Given the description of an element on the screen output the (x, y) to click on. 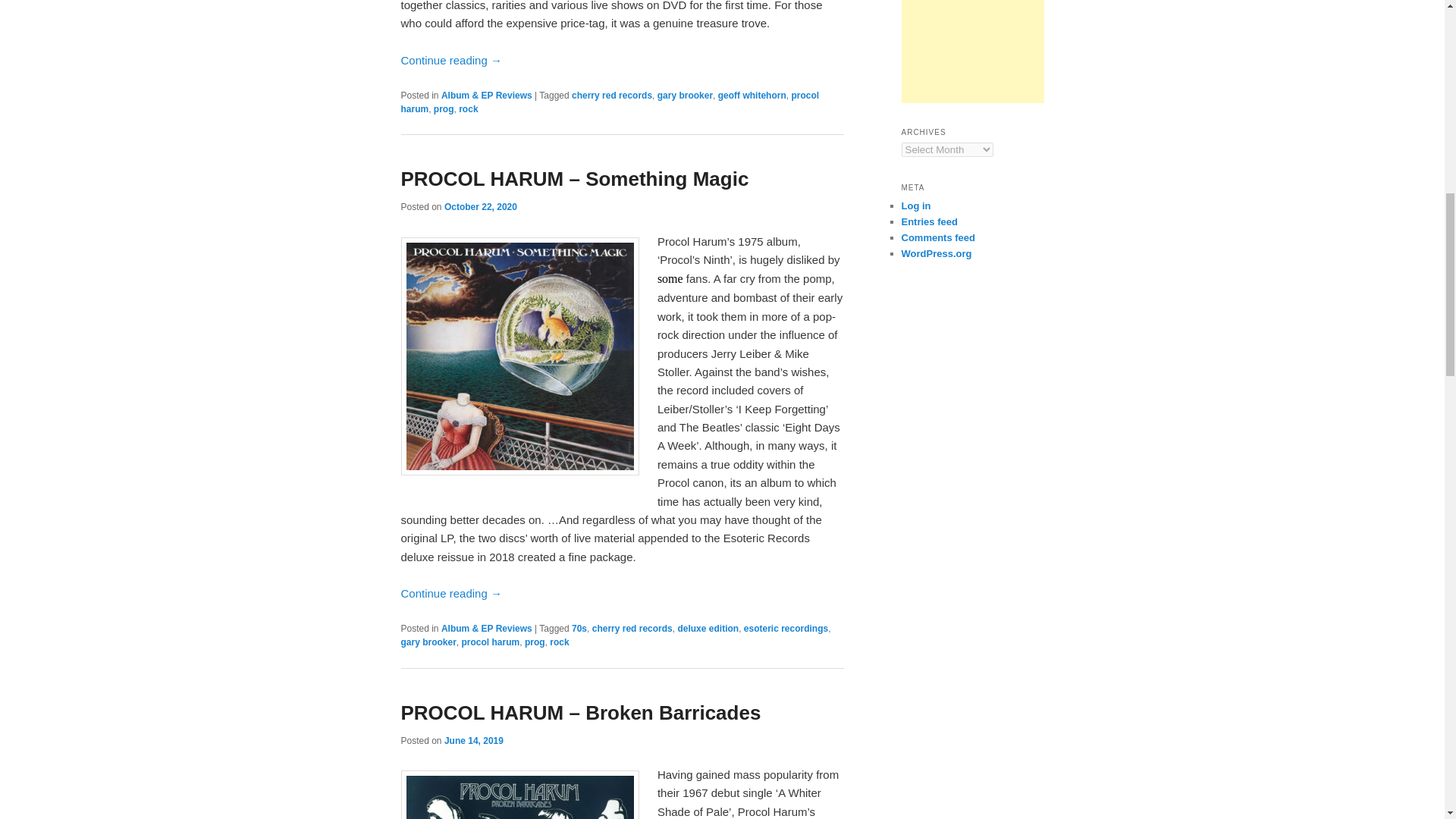
cherry red records (632, 628)
cherry red records (612, 95)
rock (467, 109)
gary brooker (427, 642)
deluxe edition (707, 628)
70s (579, 628)
2:57 pm (473, 740)
Advertisement (972, 51)
geoff whitehorn (751, 95)
gary brooker (685, 95)
